Given the description of an element on the screen output the (x, y) to click on. 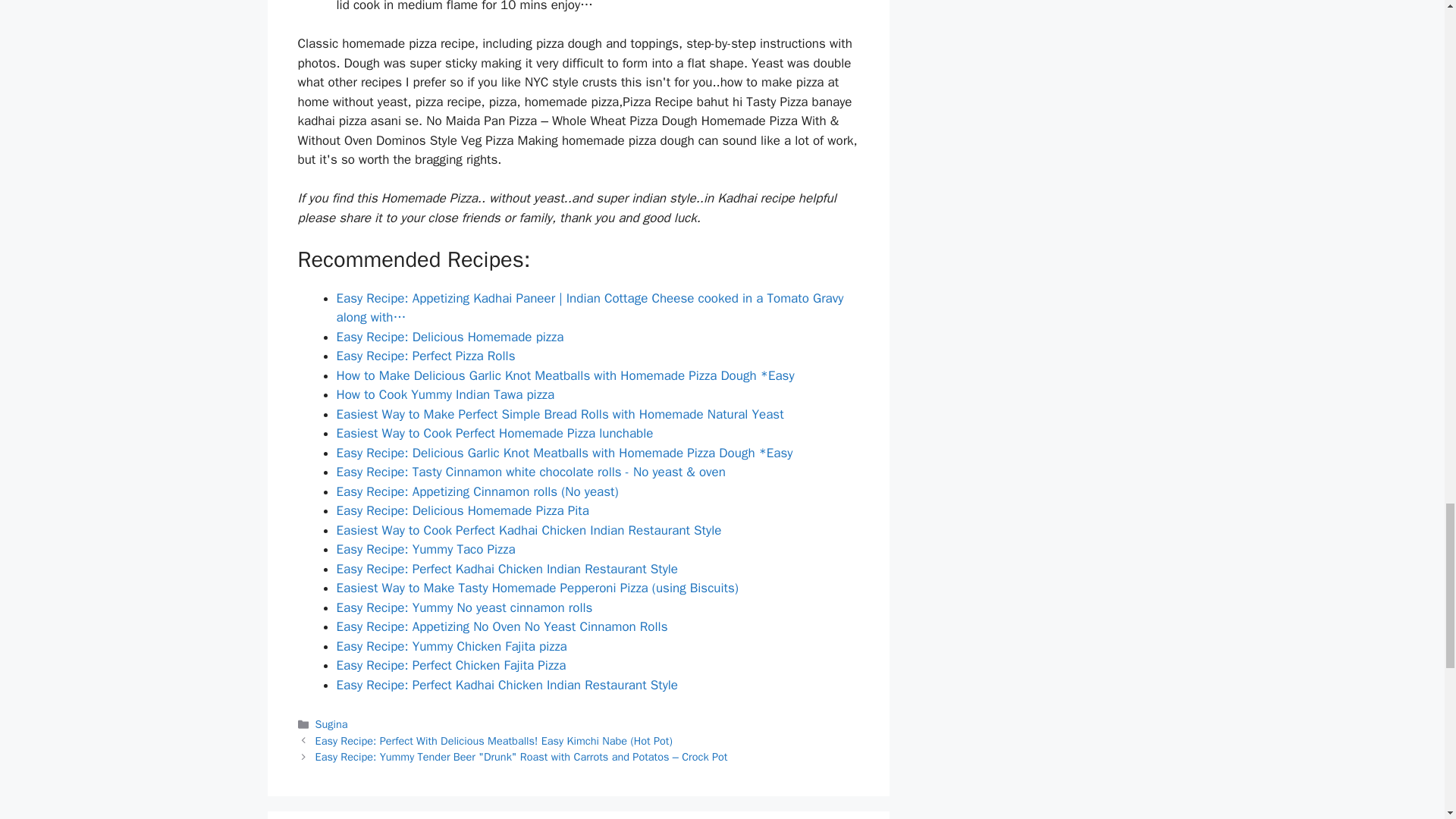
How to Cook Yummy Indian Tawa pizza (445, 394)
Easy Recipe: Yummy Taco Pizza (425, 549)
Easy Recipe: Perfect Chicken Fajita Pizza (451, 665)
Easy Recipe: Appetizing No Oven No Yeast Cinnamon Rolls (502, 626)
Easy Recipe: Yummy Chicken Fajita pizza (451, 646)
Easy Recipe: Perfect Kadhai Chicken Indian Restaurant Style (507, 684)
Easy Recipe: Perfect Pizza Rolls (425, 355)
Sugina (331, 724)
